Given the description of an element on the screen output the (x, y) to click on. 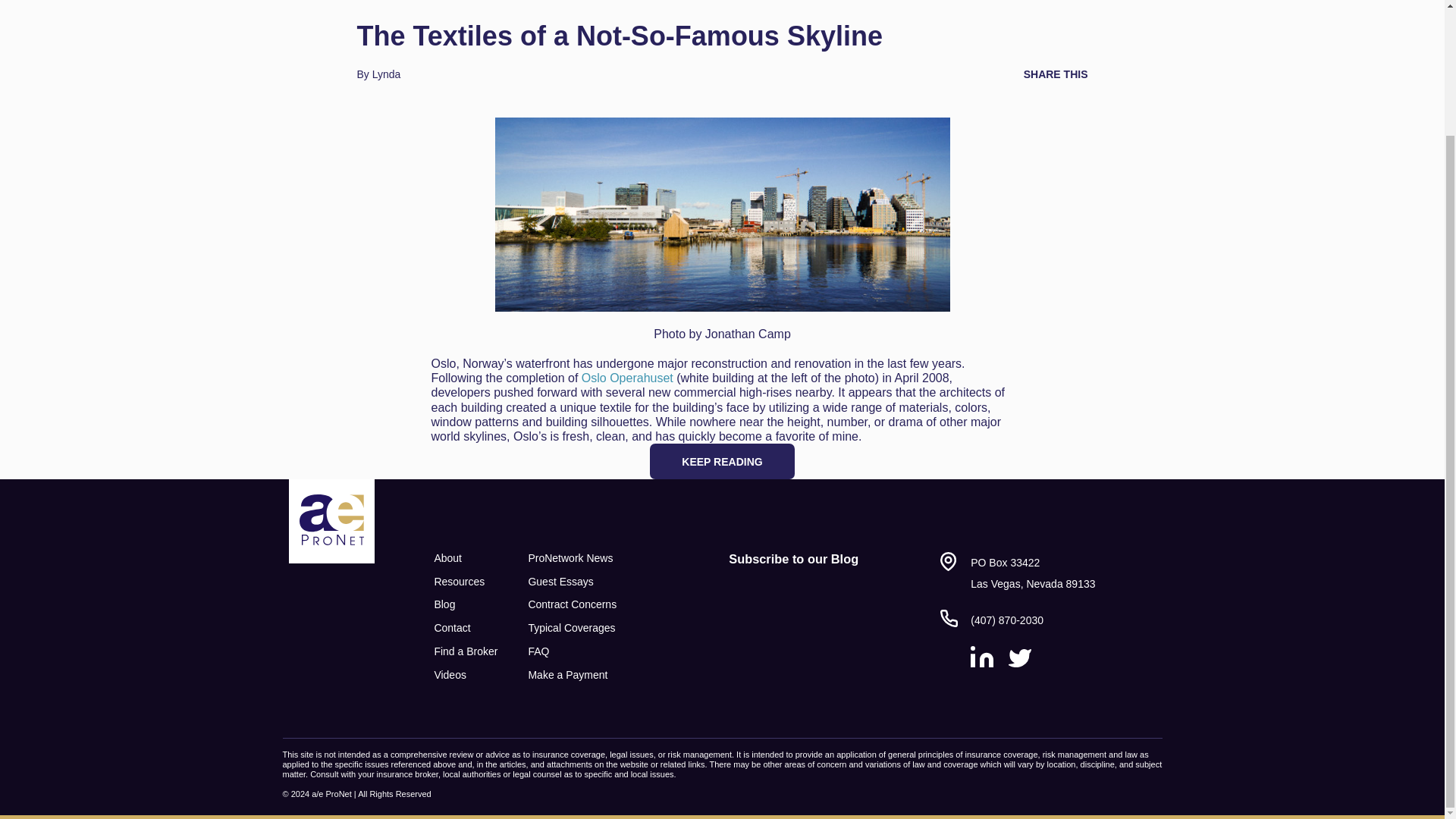
SONY DSC (722, 214)
KEEP READING (721, 461)
Oslo Operahuset (626, 377)
The Textiles of a Not-So-Famous Skyline (619, 35)
